Given the description of an element on the screen output the (x, y) to click on. 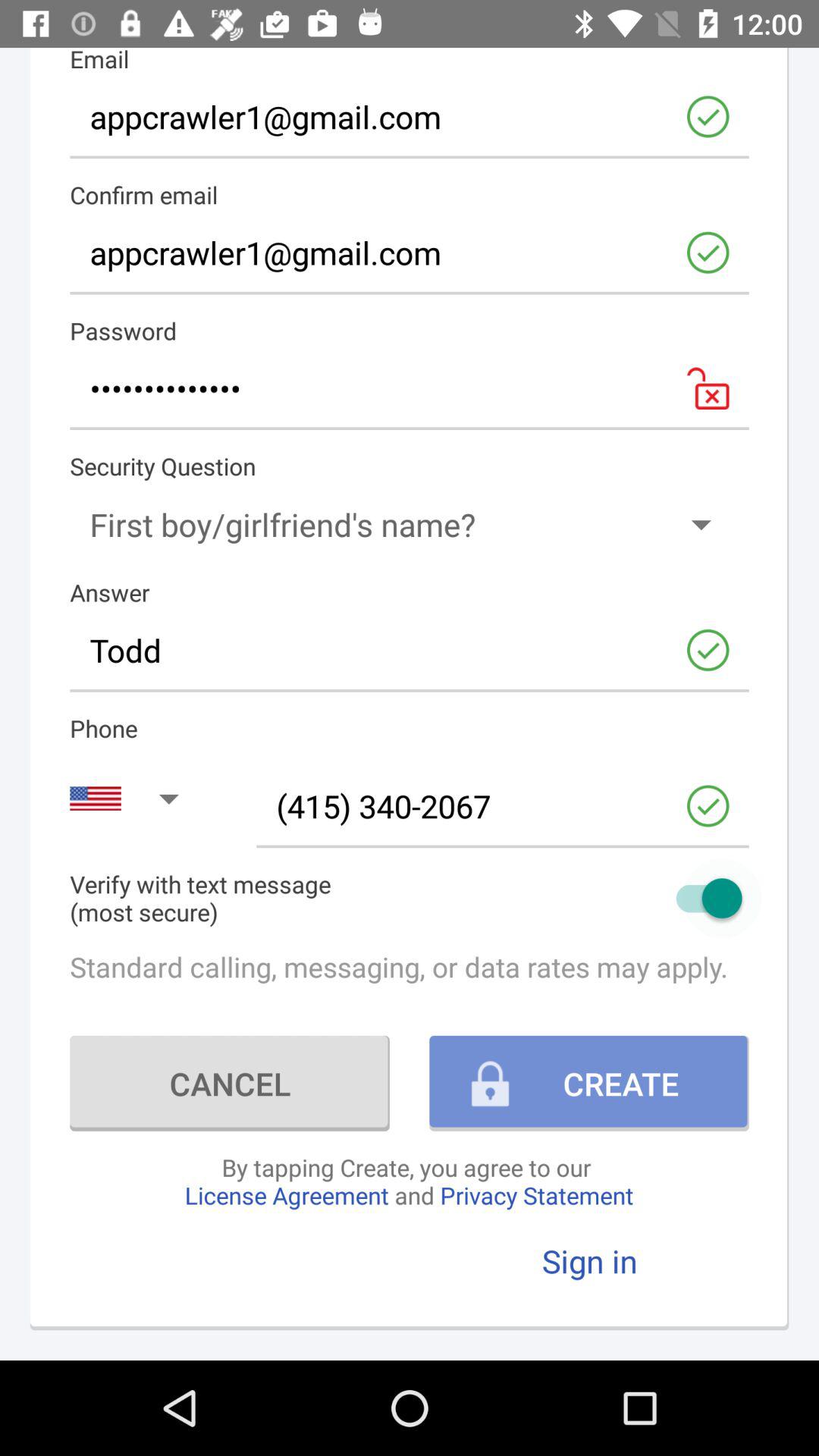
choose todd item (409, 650)
